Given the description of an element on the screen output the (x, y) to click on. 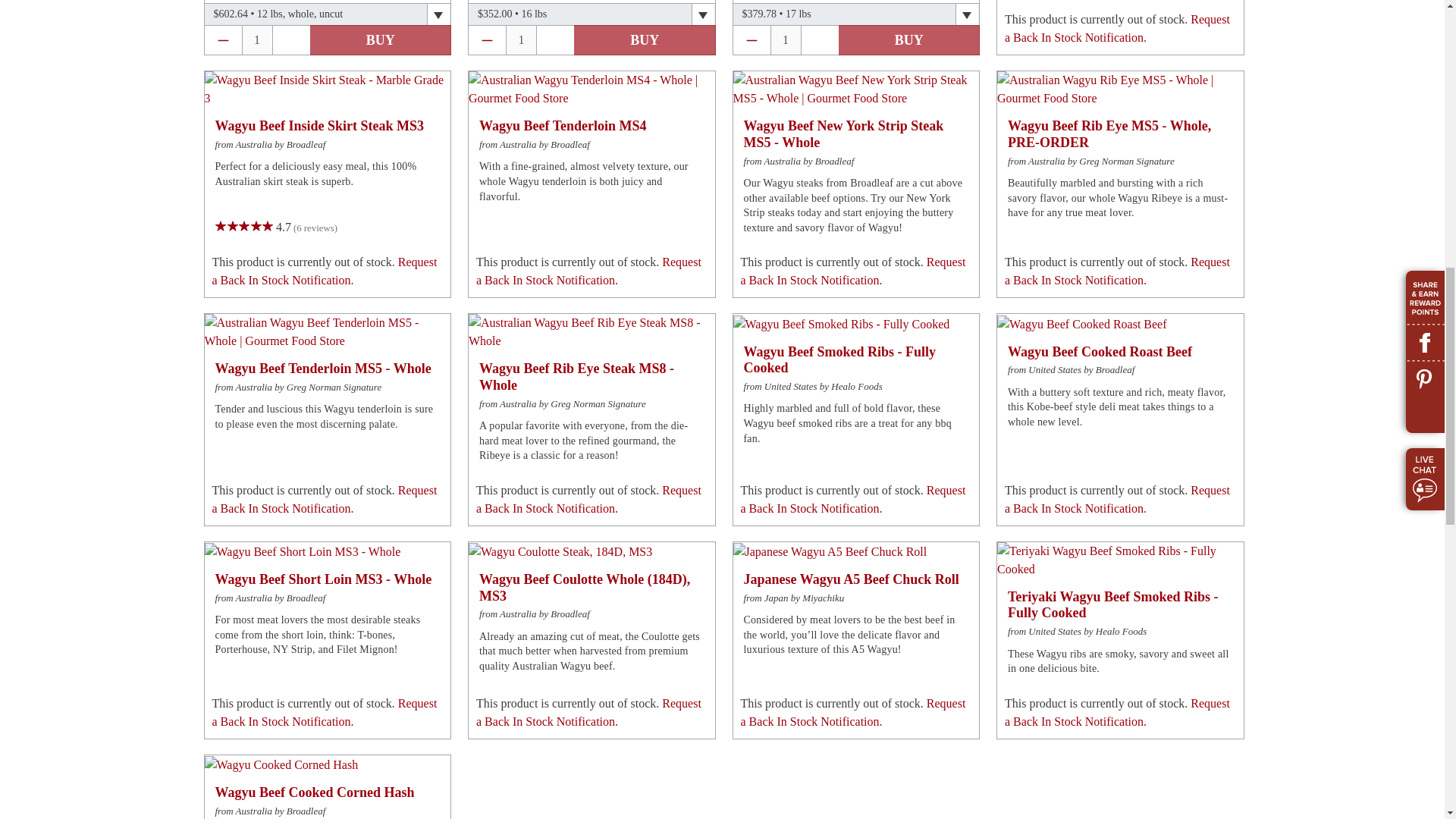
Buy (644, 40)
Wagyu Beef Smoked Ribs - Fully Cooked (840, 324)
Wagyu Beef Inside Skirt Steak - Marble Grade 3 (328, 89)
1 (784, 39)
1 (257, 39)
Wagyu Beef Short Loin MS3 - Whole (303, 551)
Australian Wagyu Beef Rib Eye Steak MS8 - Whole (591, 331)
Wagyu Beef Cooked Roast Beef (1082, 324)
Buy (379, 40)
Buy (908, 40)
1 (520, 39)
